Given the description of an element on the screen output the (x, y) to click on. 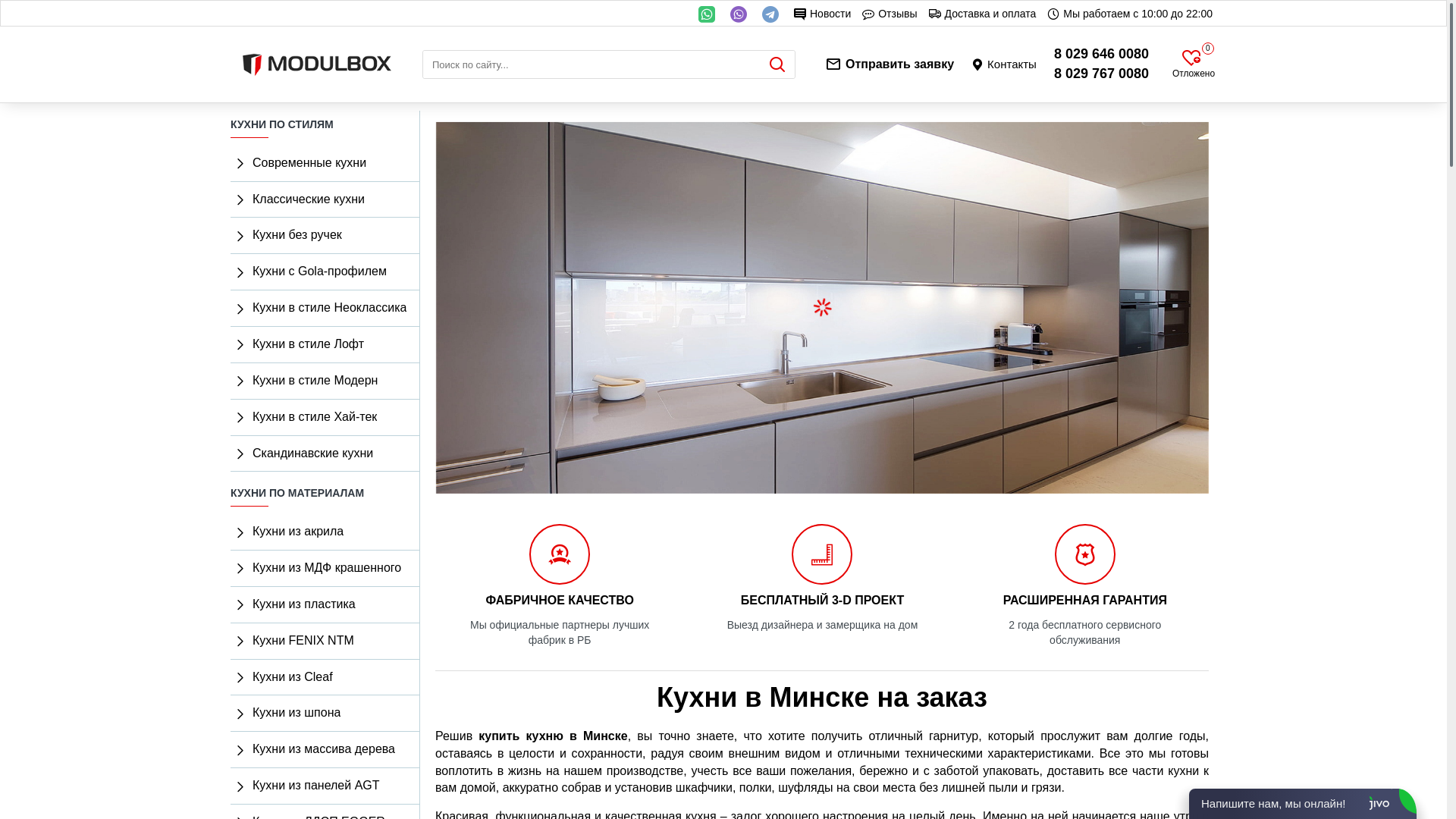
8 029 646 0080
8 029 767 0080 Element type: text (1101, 63)
